Given the description of an element on the screen output the (x, y) to click on. 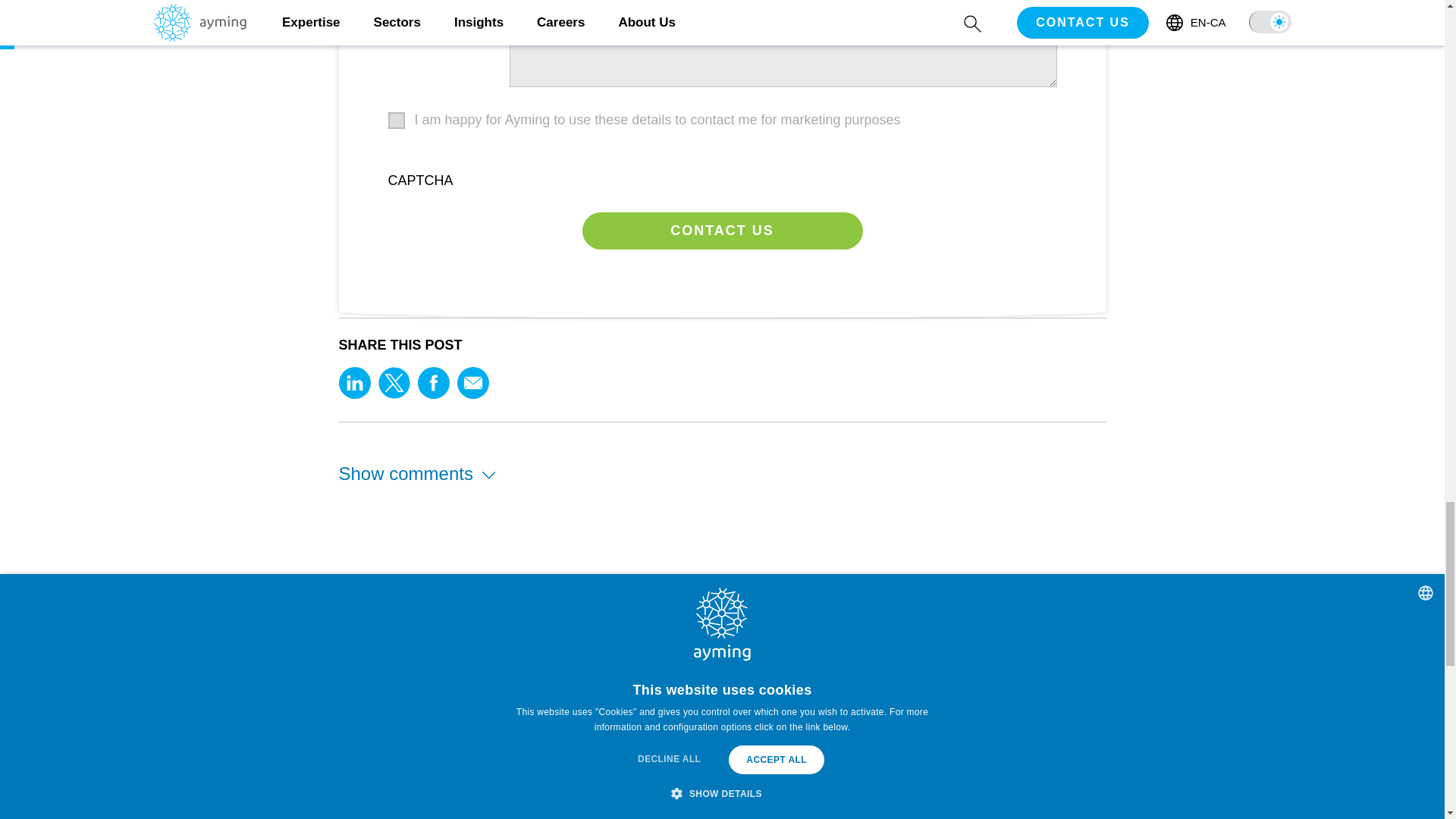
Contact us (722, 231)
